Given the description of an element on the screen output the (x, y) to click on. 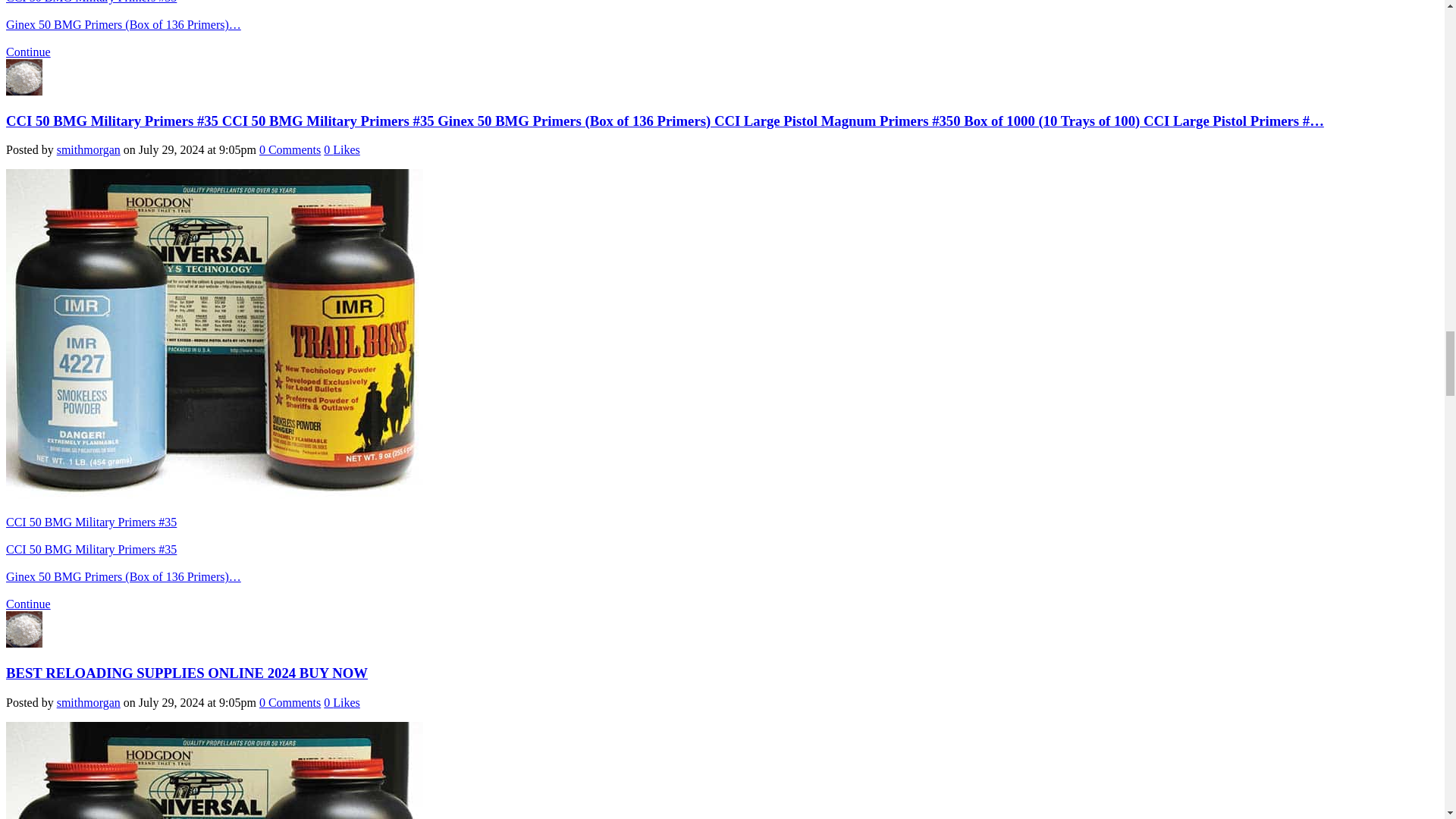
smithmorgan (23, 91)
